Given the description of an element on the screen output the (x, y) to click on. 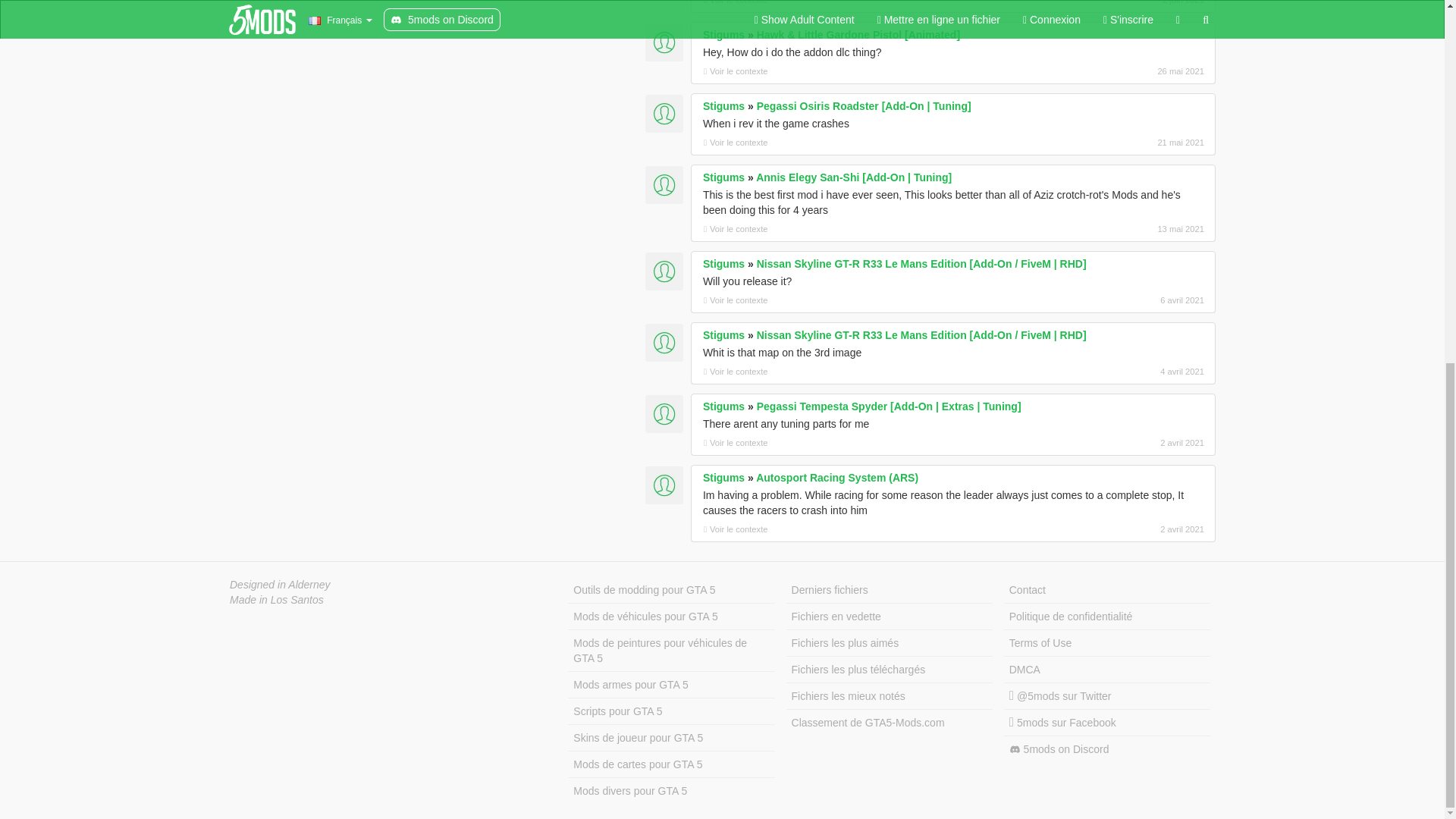
02 juin 2021 01h 10min 38s (1124, 3)
02 avril 2021 18h 24min 09s (1124, 442)
04 avril 2021 19h 39min 59s (1124, 371)
26 mai 2021 22h 15min 53s (1124, 70)
06 avril 2021 11h 39min 59s (1124, 300)
21 mai 2021 04h 22min 04s (1124, 142)
02 avril 2021 00h 18min 09s (1124, 529)
13 mai 2021 00h 14min 23s (1124, 228)
